Given the description of an element on the screen output the (x, y) to click on. 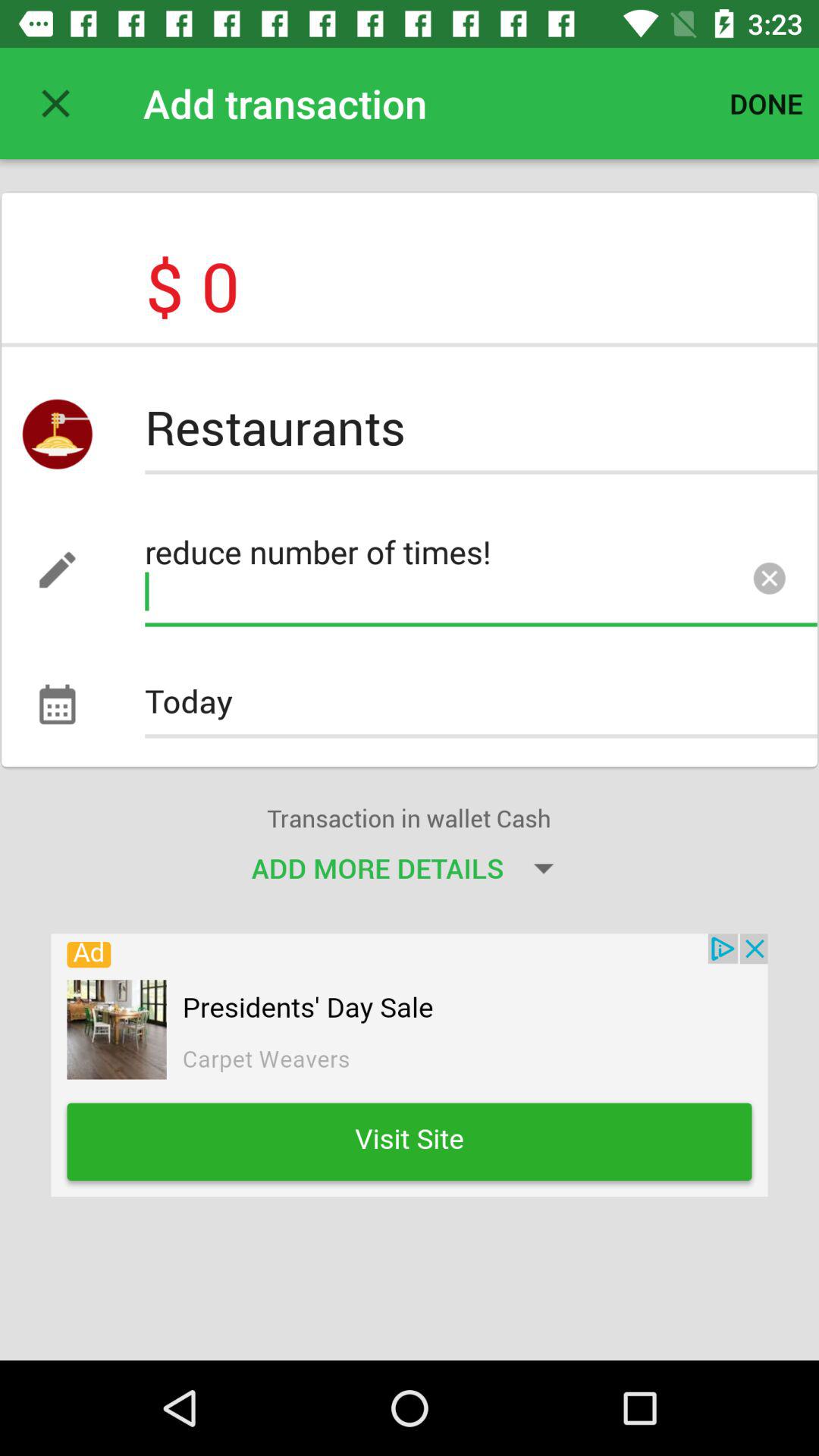
close window (55, 103)
